Given the description of an element on the screen output the (x, y) to click on. 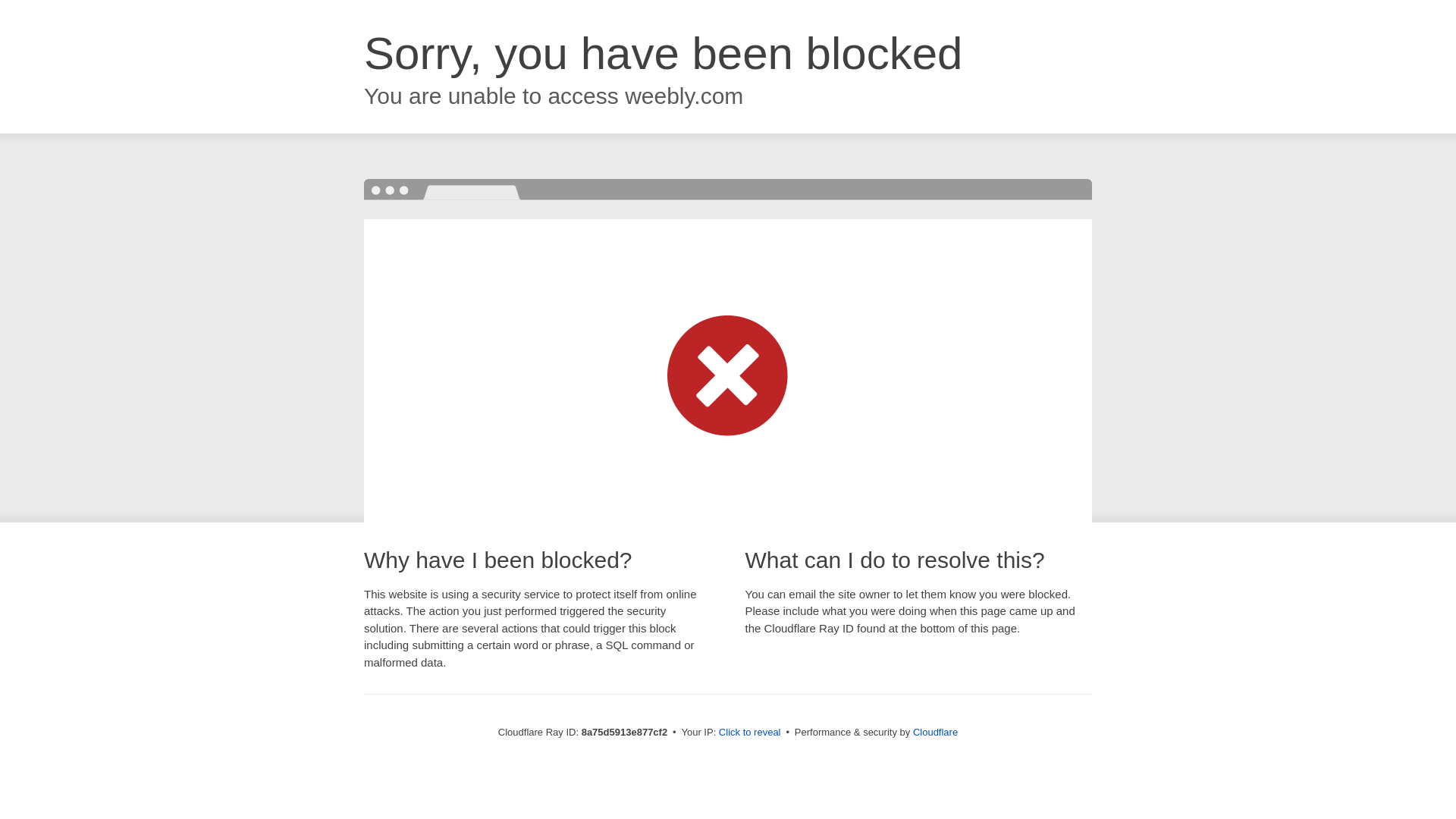
Cloudflare (935, 731)
Click to reveal (749, 732)
